Given the description of an element on the screen output the (x, y) to click on. 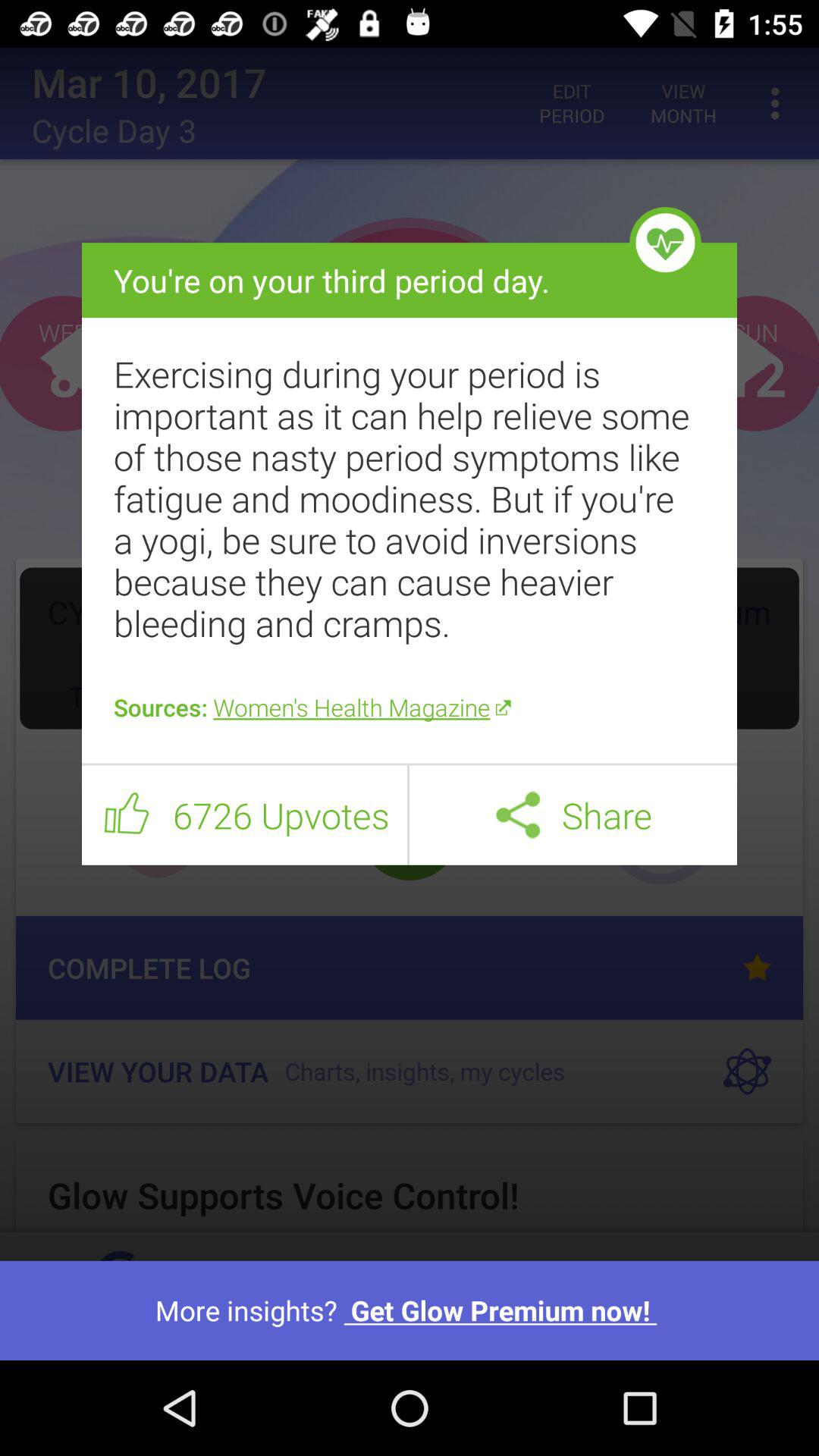
click item on the left (126, 815)
